Given the description of an element on the screen output the (x, y) to click on. 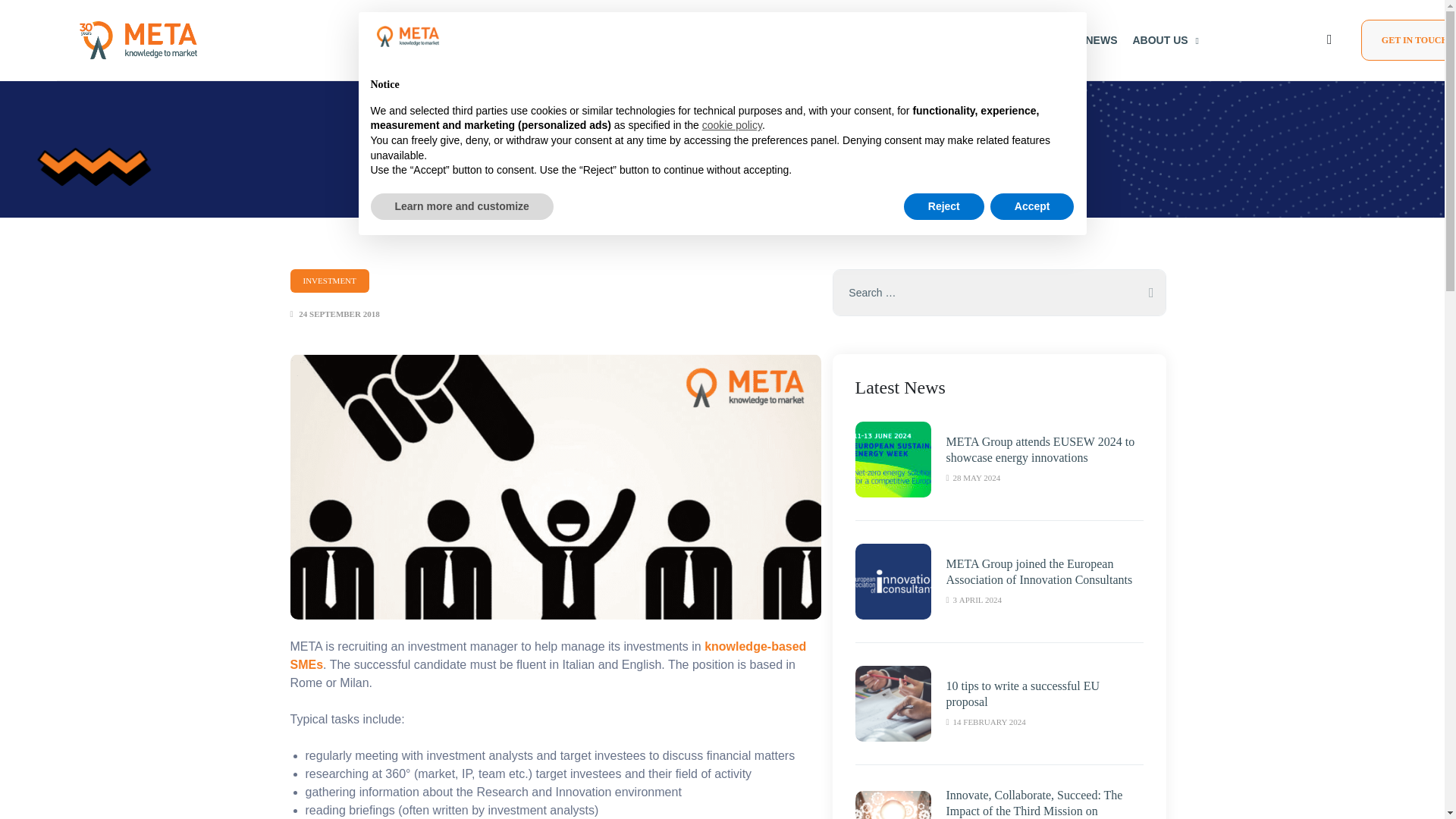
OUR WORK (946, 40)
Go to News. (679, 118)
SOLUTIONS (864, 40)
Go to the Investment category archives. (735, 118)
RESOURCES (1030, 40)
ABOUT US (1165, 40)
NEWS (1100, 40)
